Given the description of an element on the screen output the (x, y) to click on. 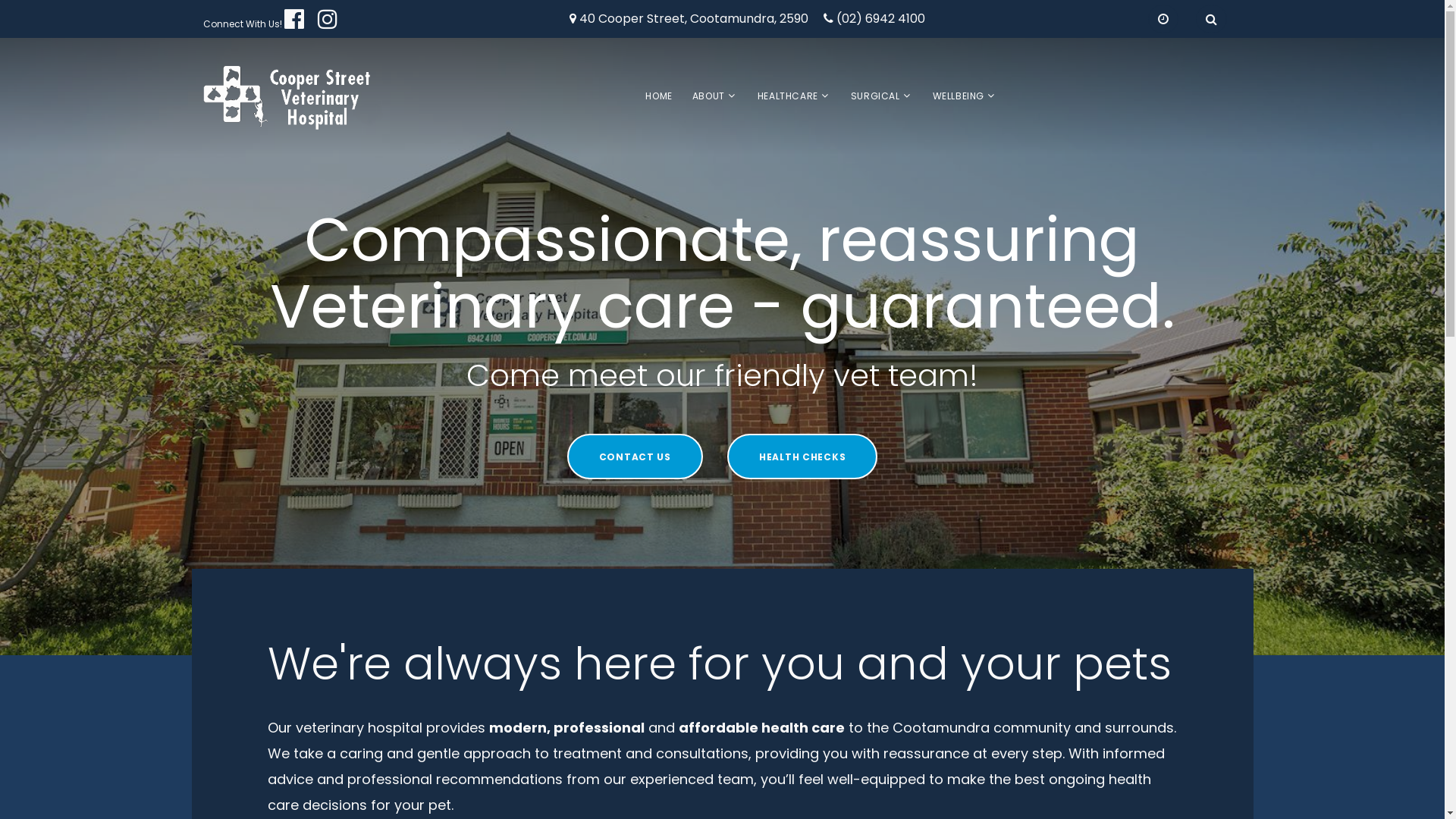
(02) 6942 4100 Element type: text (879, 19)
CONTACT US Element type: text (634, 456)
WELLBEING Element type: text (958, 95)
HOME Element type: text (658, 95)
SURGICAL Element type: text (875, 95)
HEALTHCARE Element type: text (787, 95)
HEALTH CHECKS Element type: text (802, 456)
ABOUT Element type: text (708, 95)
